Given the description of an element on the screen output the (x, y) to click on. 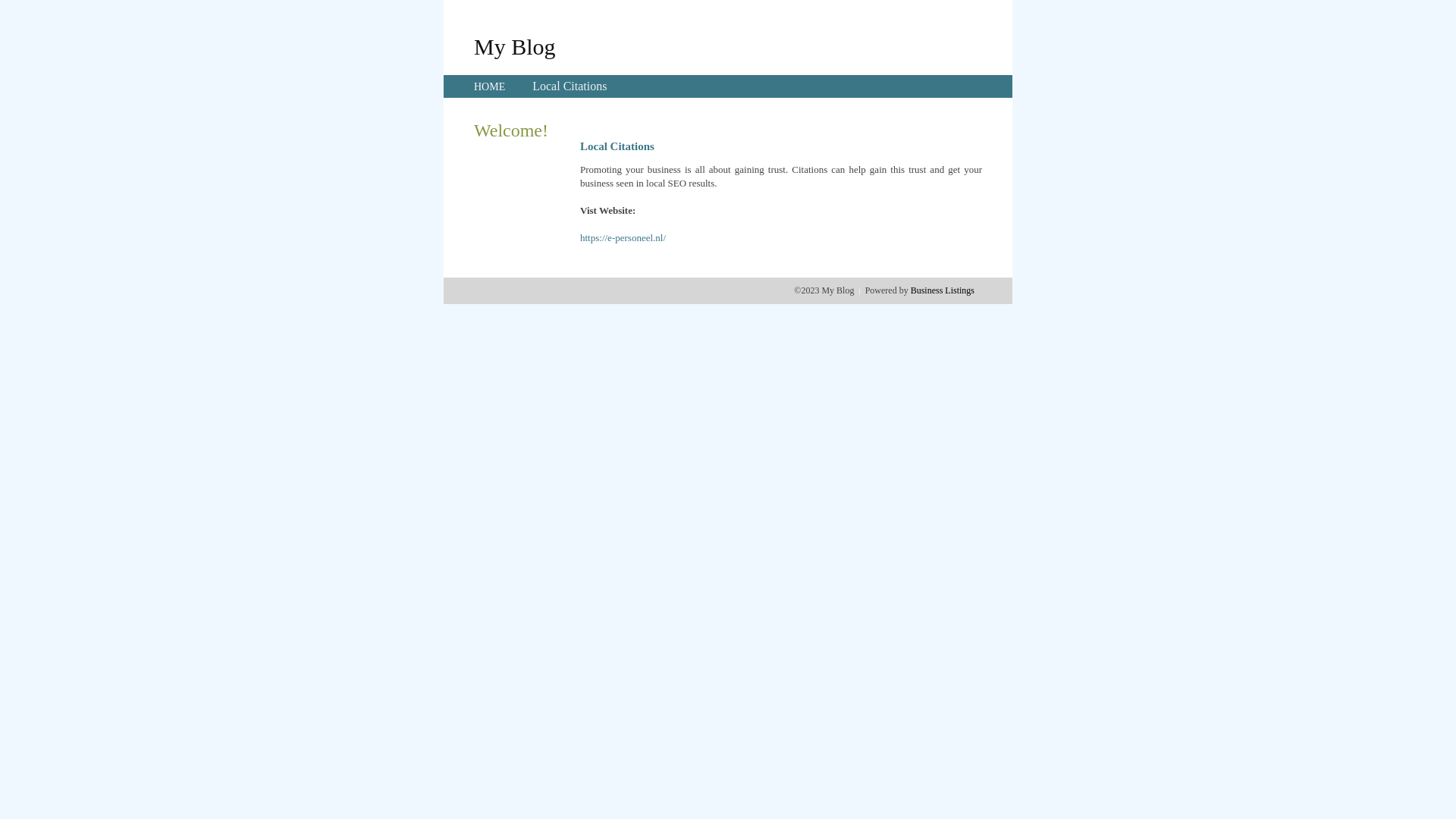
Local Citations Element type: text (569, 85)
https://e-personeel.nl/ Element type: text (622, 237)
HOME Element type: text (489, 86)
Business Listings Element type: text (942, 290)
My Blog Element type: text (514, 46)
